Given the description of an element on the screen output the (x, y) to click on. 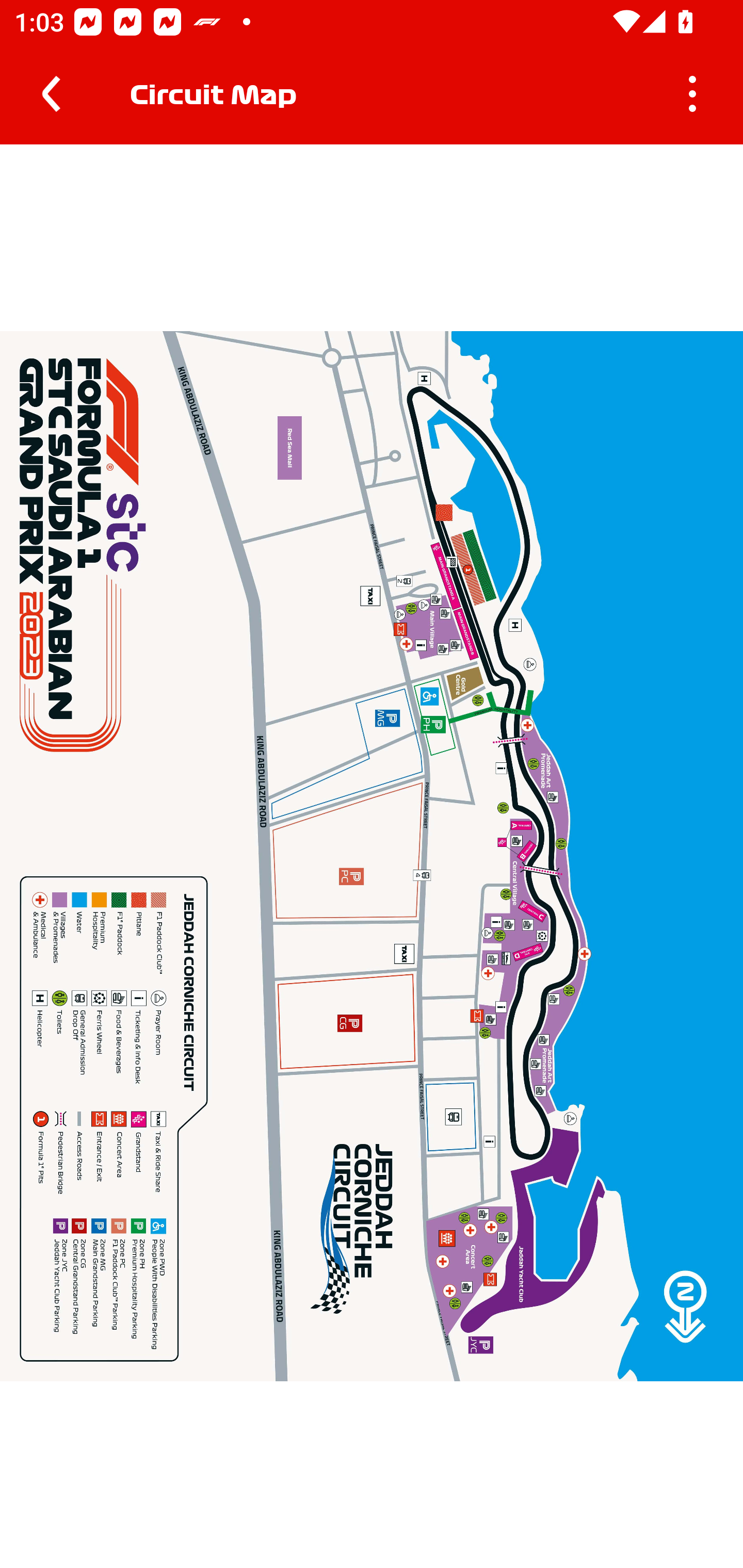
Navigate up (50, 93)
